Given the description of an element on the screen output the (x, y) to click on. 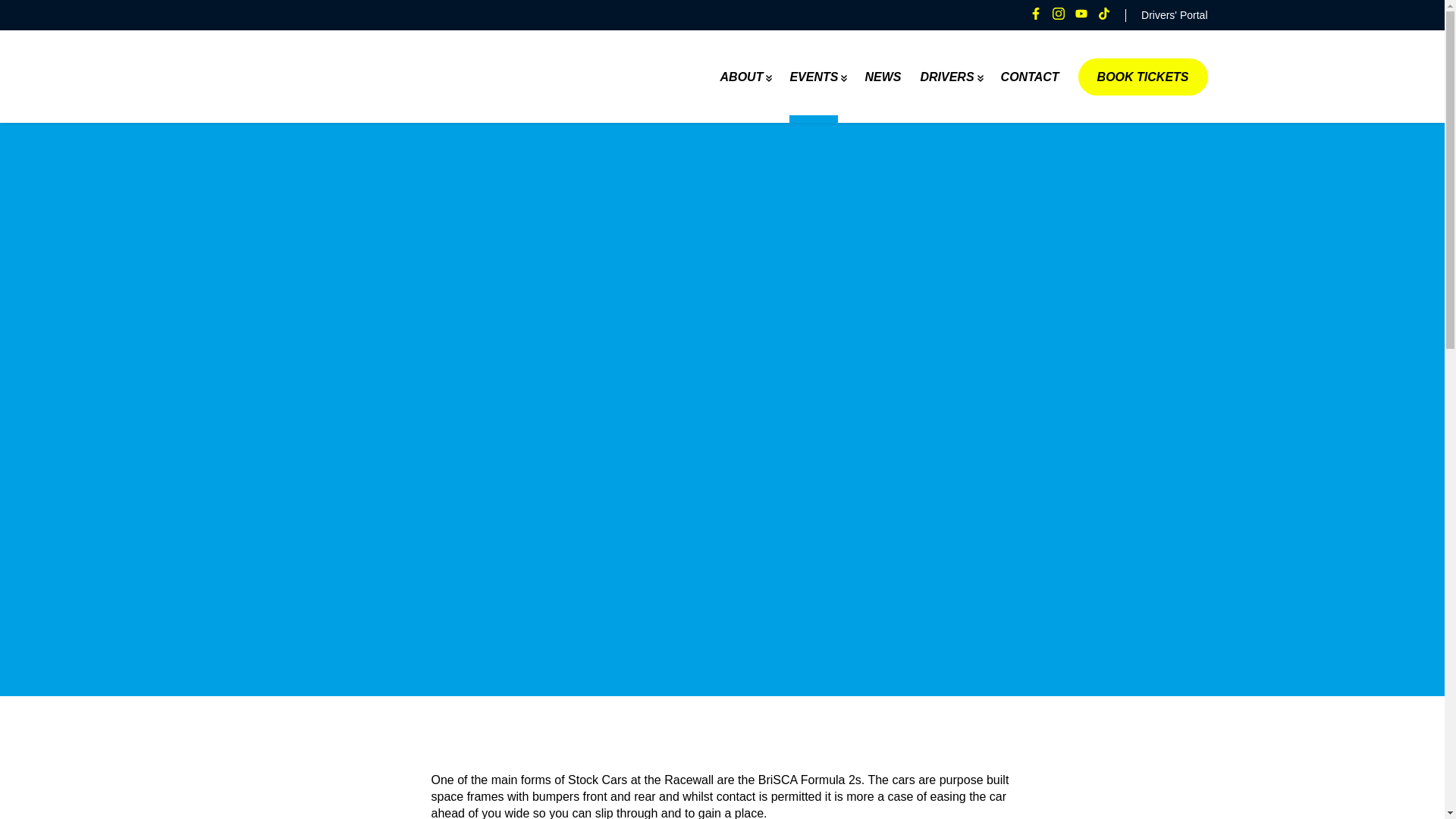
Follow us on instagram (1058, 13)
ABOUT (741, 76)
Drivers' Portal (1166, 15)
Subscribe to our YouTube Channel (1081, 13)
NEWS (882, 76)
Subscribe to our TikTok (1103, 13)
Follow us on facebook (1035, 13)
EVENTS (813, 76)
